Given the description of an element on the screen output the (x, y) to click on. 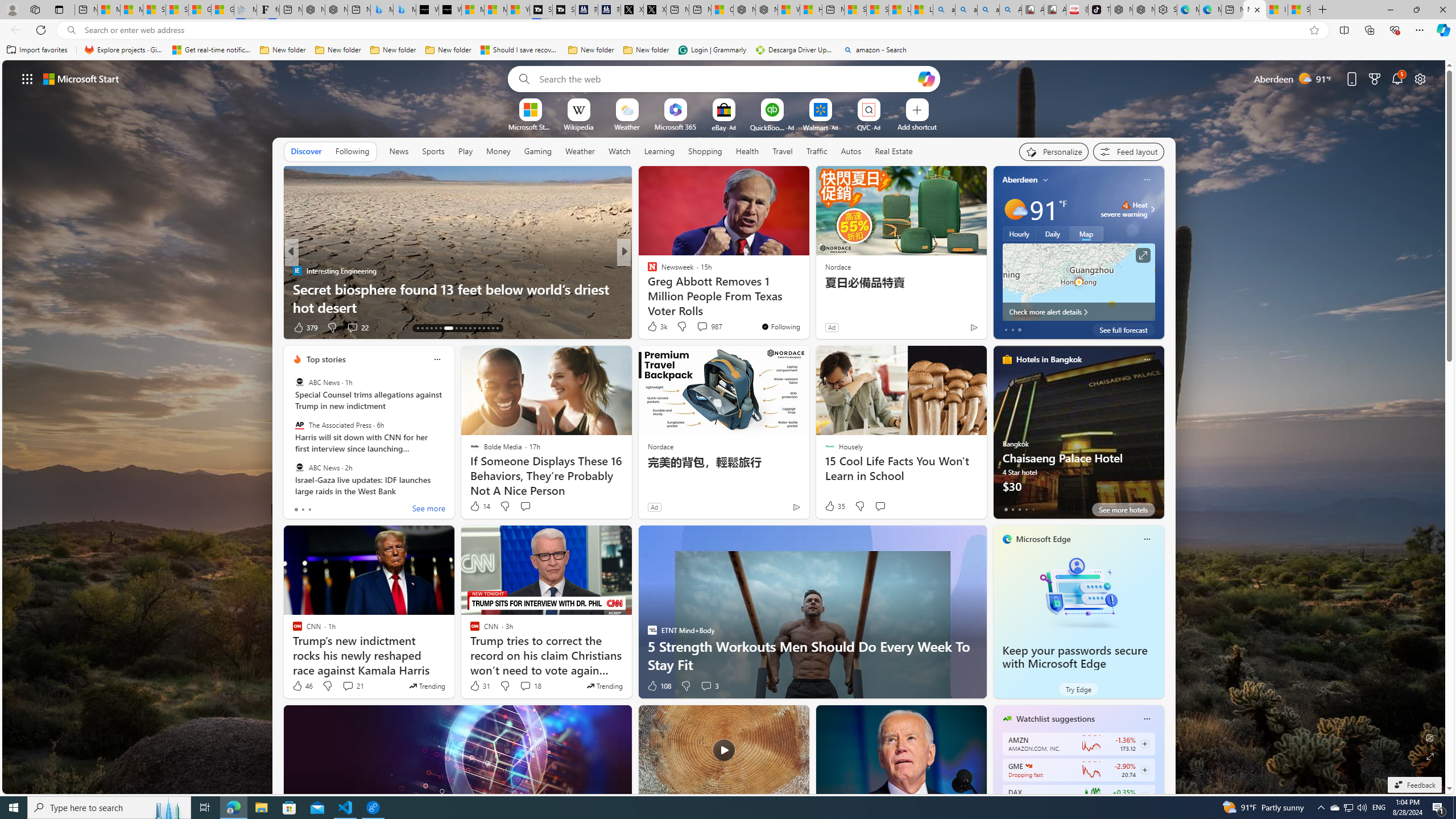
View comments 3 Comment (709, 685)
Check more alert details (1077, 311)
View comments 22 Comment (352, 327)
View comments 3 Comment (705, 685)
The Associated Press (299, 424)
View comments 174 Comment (703, 327)
Chaisaeng Palace Hotel (1078, 436)
AutomationID: tab-14 (422, 328)
